Given the description of an element on the screen output the (x, y) to click on. 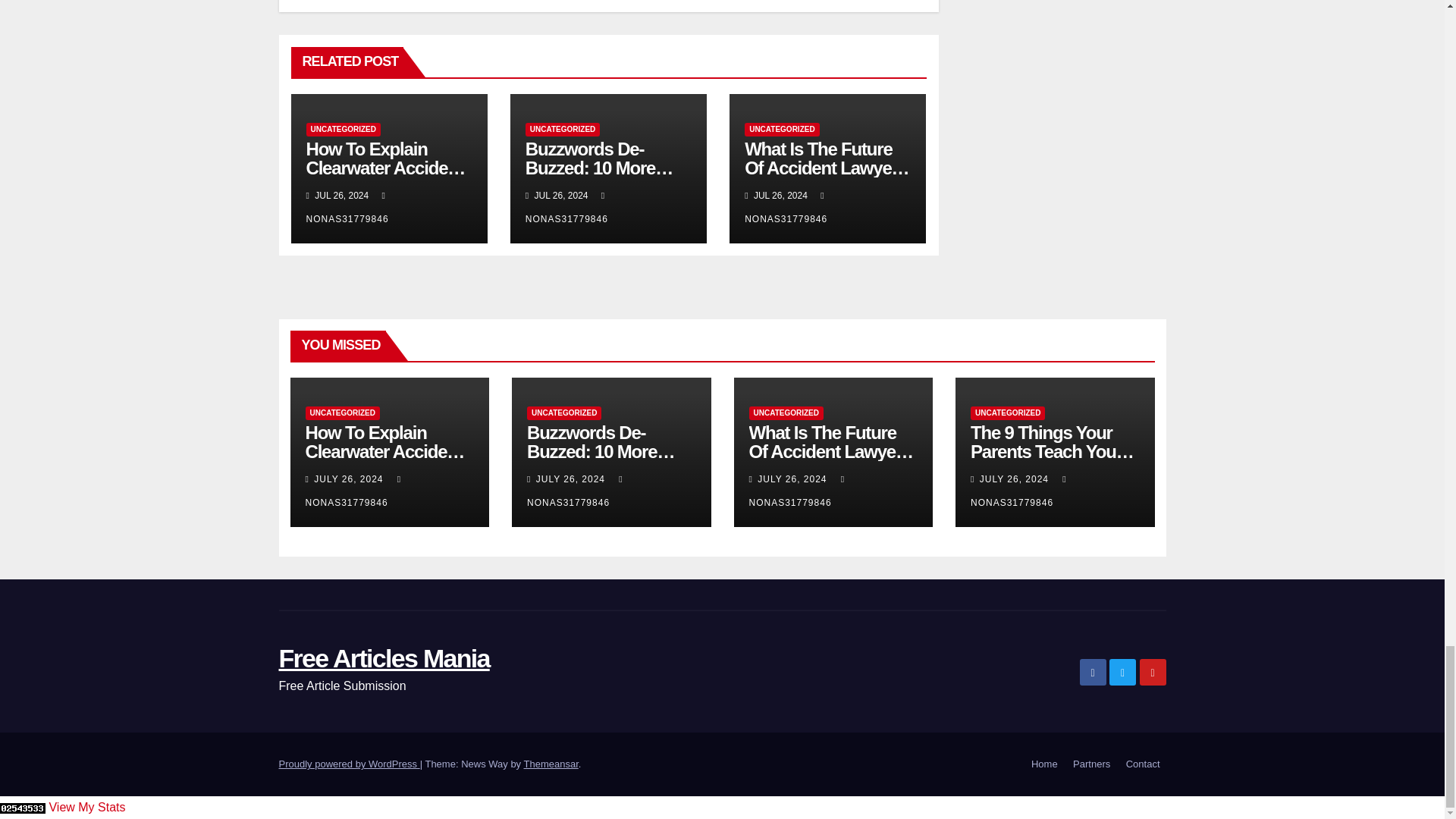
NONAS31779846 (346, 207)
UNCATEGORIZED (342, 129)
How To Explain Clearwater Accident Lawyer To Your Boss (388, 167)
